Given the description of an element on the screen output the (x, y) to click on. 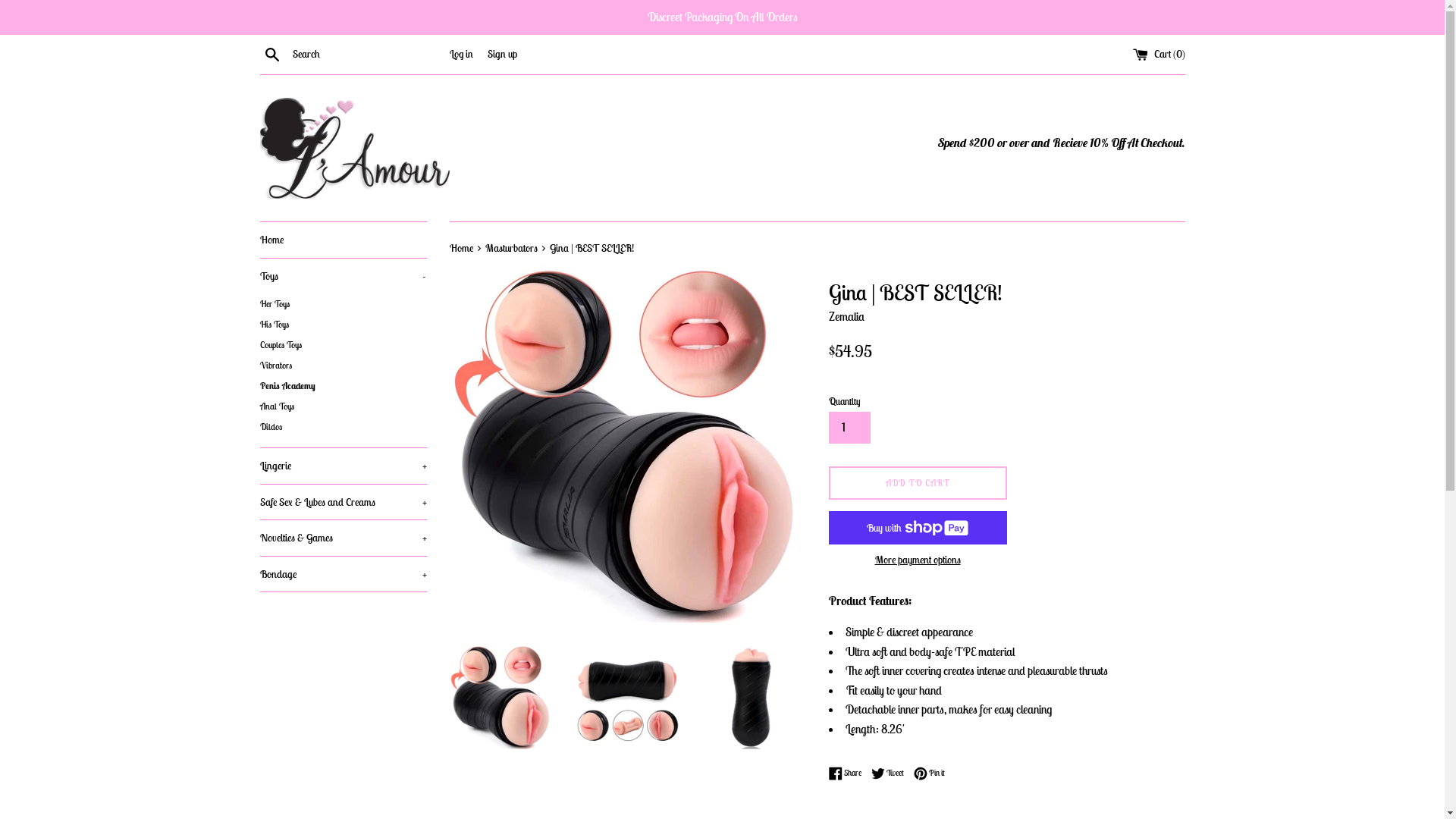
Home Element type: text (342, 239)
Toys
- Element type: text (342, 275)
Safe Sex & Lubes and Creams
+ Element type: text (342, 501)
Anal Toys Element type: text (342, 405)
Share
Share on Facebook Element type: text (848, 773)
Masturbators Element type: text (512, 247)
Sign up Element type: text (501, 53)
His Toys Element type: text (342, 323)
Log in Element type: text (460, 53)
Home Element type: text (461, 247)
Couples Toys Element type: text (342, 344)
Her Toys Element type: text (342, 303)
Tweet
Tweet on Twitter Element type: text (890, 773)
ADD TO CART Element type: text (917, 482)
Cart (0) Element type: text (1158, 53)
Pin it
Pin on Pinterest Element type: text (928, 773)
Search Element type: text (271, 53)
Lingerie
+ Element type: text (342, 465)
Penis Academy Element type: text (342, 385)
Bondage
+ Element type: text (342, 573)
Vibrators Element type: text (342, 364)
Dildos Element type: text (342, 426)
More payment options Element type: text (917, 559)
Novelties & Games
+ Element type: text (342, 537)
